Given the description of an element on the screen output the (x, y) to click on. 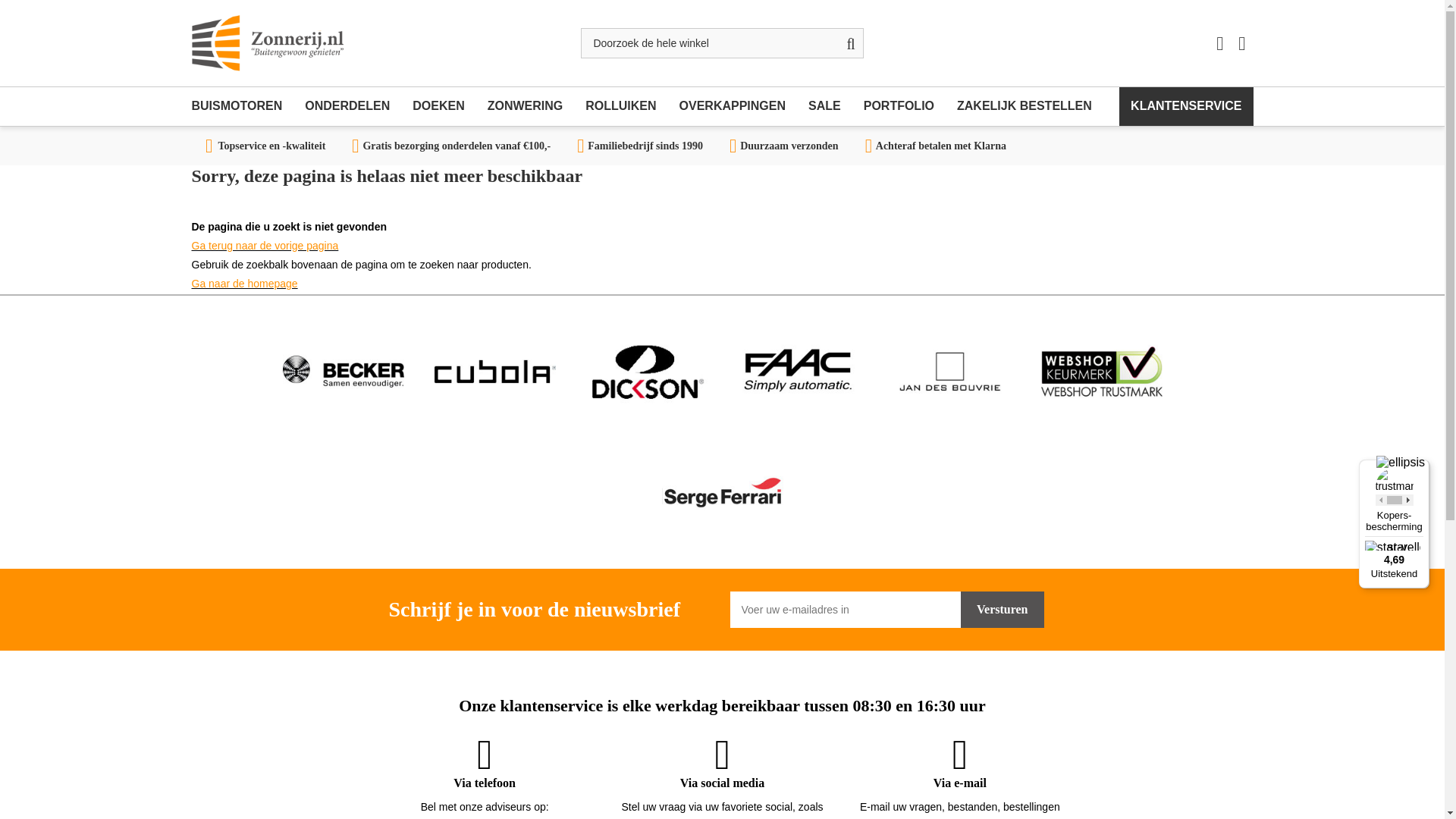
Zonnerij.nl (266, 42)
Onderdelen (347, 106)
BUISMOTOREN (242, 106)
Buismotoren (242, 106)
Zonnerij.nl (266, 43)
ONDERDELEN (347, 106)
